Given the description of an element on the screen output the (x, y) to click on. 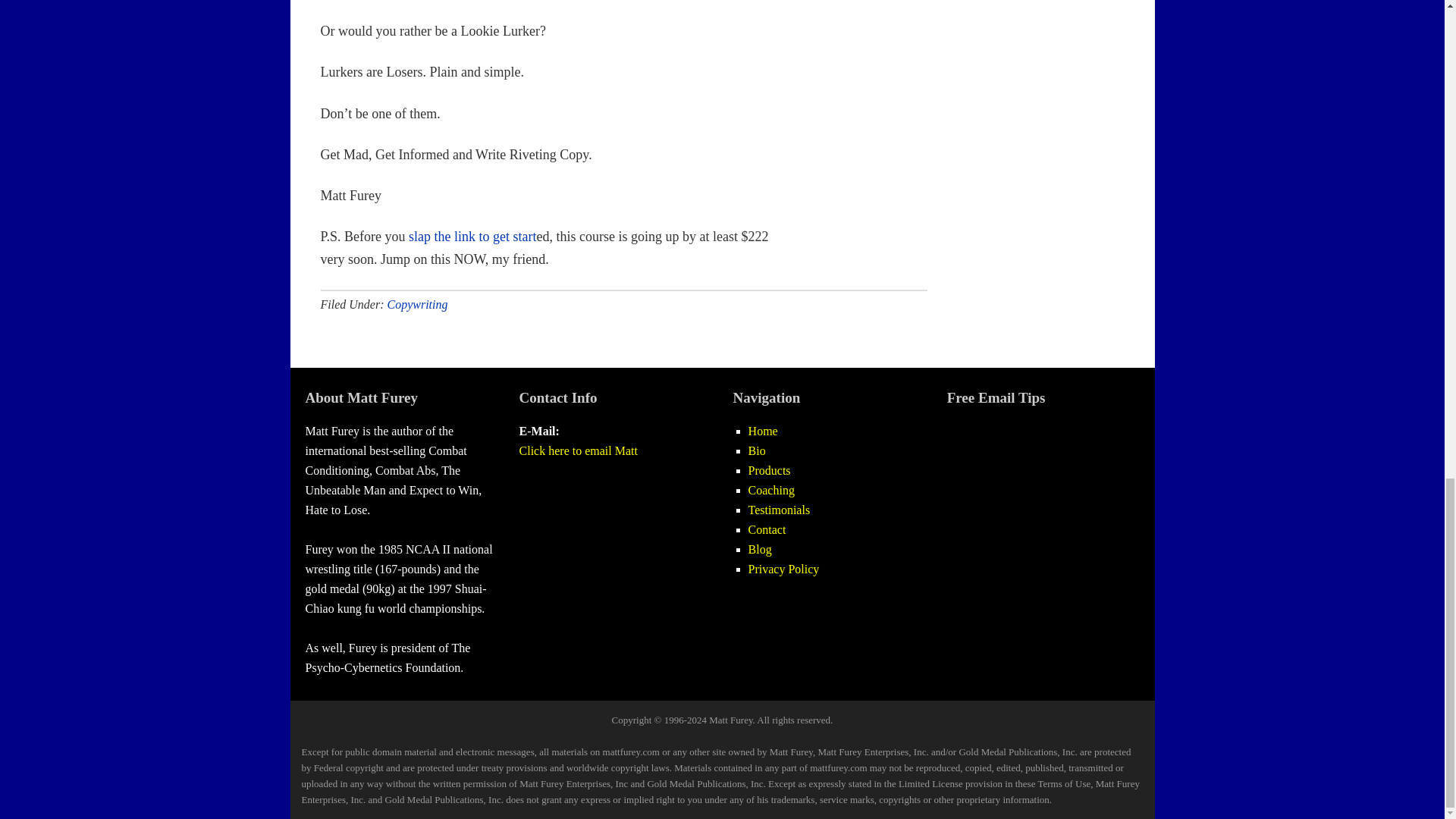
Blog (759, 549)
Home (762, 431)
Testimonials (779, 509)
Click here to email Matt (578, 450)
Products (769, 470)
slap the link to get start (472, 236)
Coaching (771, 490)
Copywriting (416, 304)
Contact (767, 529)
Bio (756, 450)
